Given the description of an element on the screen output the (x, y) to click on. 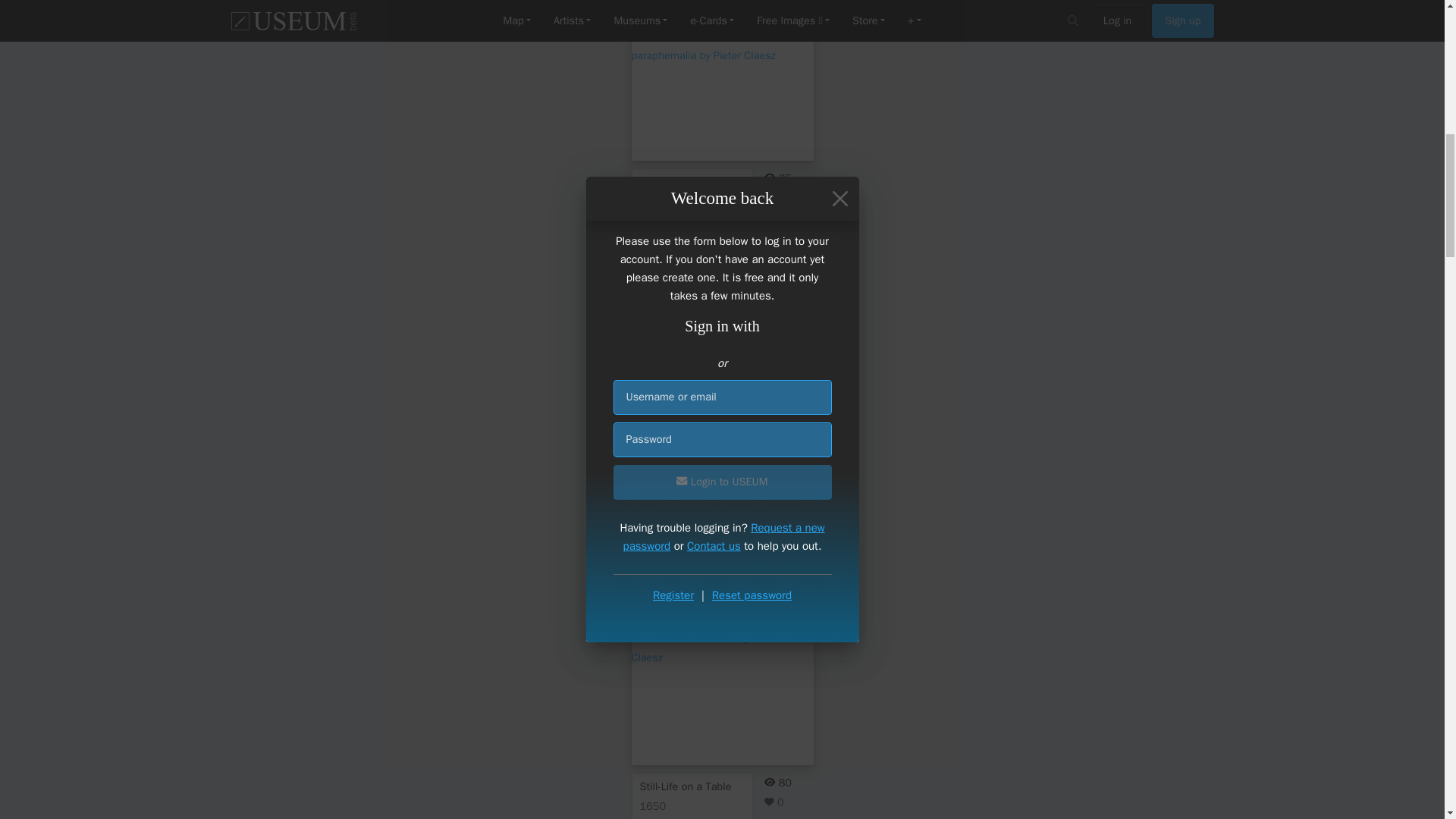
BE (713, 534)
BE (713, 245)
